Given the description of an element on the screen output the (x, y) to click on. 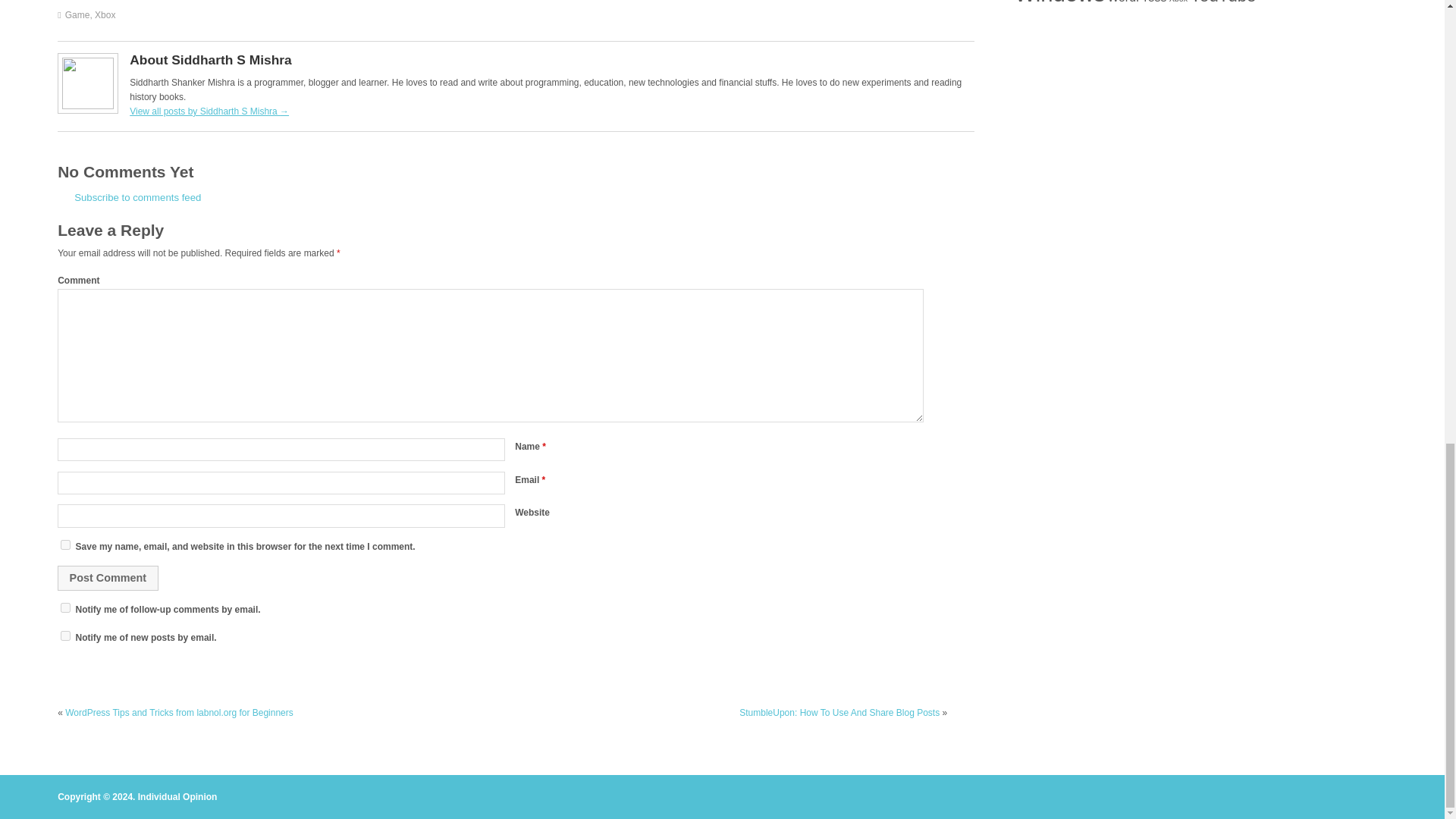
StumbleUpon: How To Use And Share Blog Posts (839, 712)
 Lizard Squad Takes Xbox Live Down Again In One Month (129, 197)
yes (65, 544)
Post Comment (107, 577)
Game (77, 14)
Post Comment (107, 577)
Xbox (104, 14)
subscribe (65, 607)
WordPress Tips and Tricks from labnol.org for Beginners (179, 712)
subscribe (65, 635)
